Given the description of an element on the screen output the (x, y) to click on. 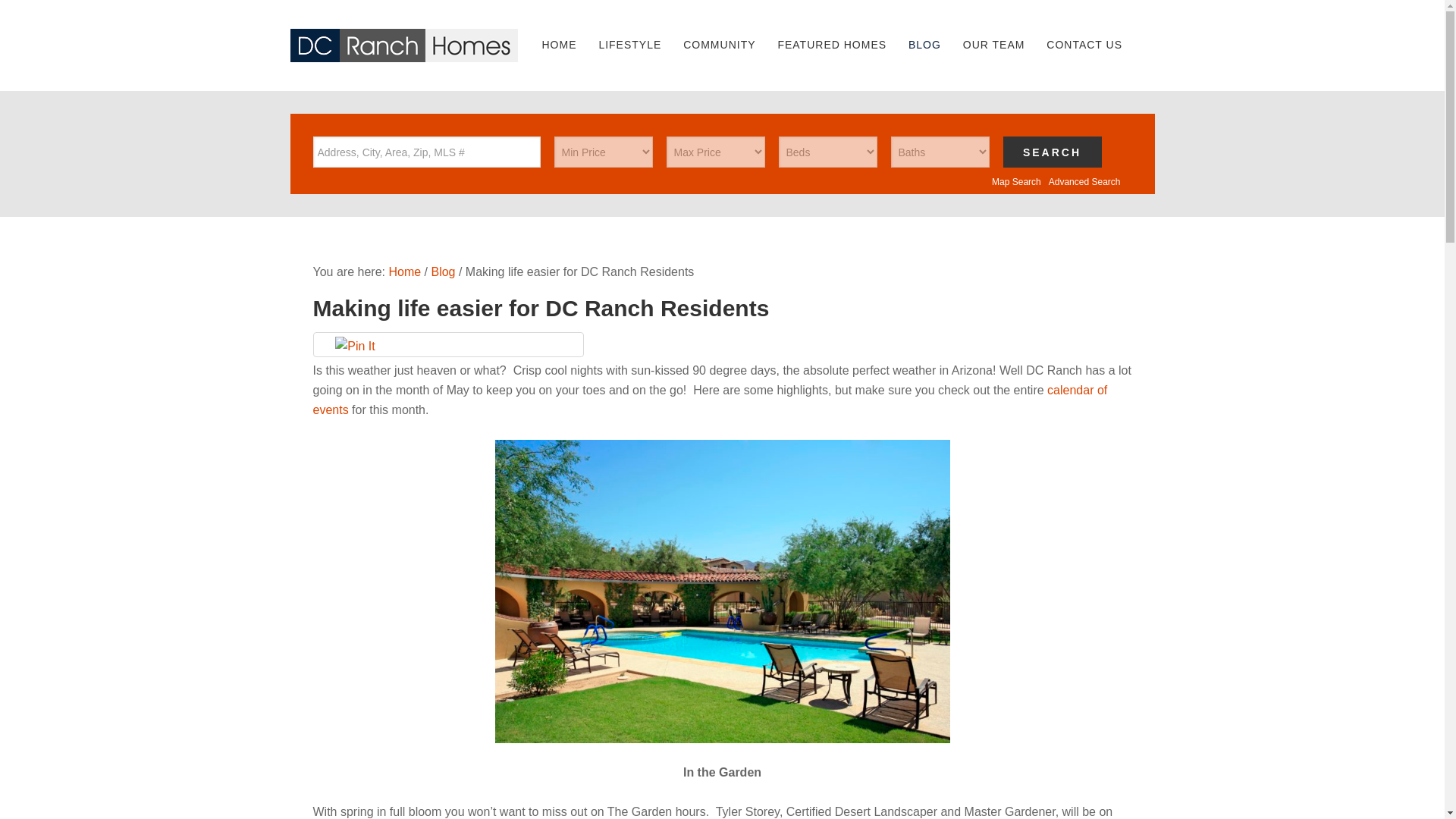
Blog (442, 271)
Home (404, 271)
SEARCH (1051, 151)
FEATURED HOMES (831, 44)
COMMUNITY (719, 44)
Advanced Search (1084, 181)
calendar of events (709, 400)
LIFESTYLE (629, 44)
HOME (558, 44)
CONTACT US (1083, 44)
SEARCH (1051, 151)
OUR TEAM (993, 44)
Pin It (354, 346)
BLOG (924, 44)
Map Search (1016, 181)
